Given the description of an element on the screen output the (x, y) to click on. 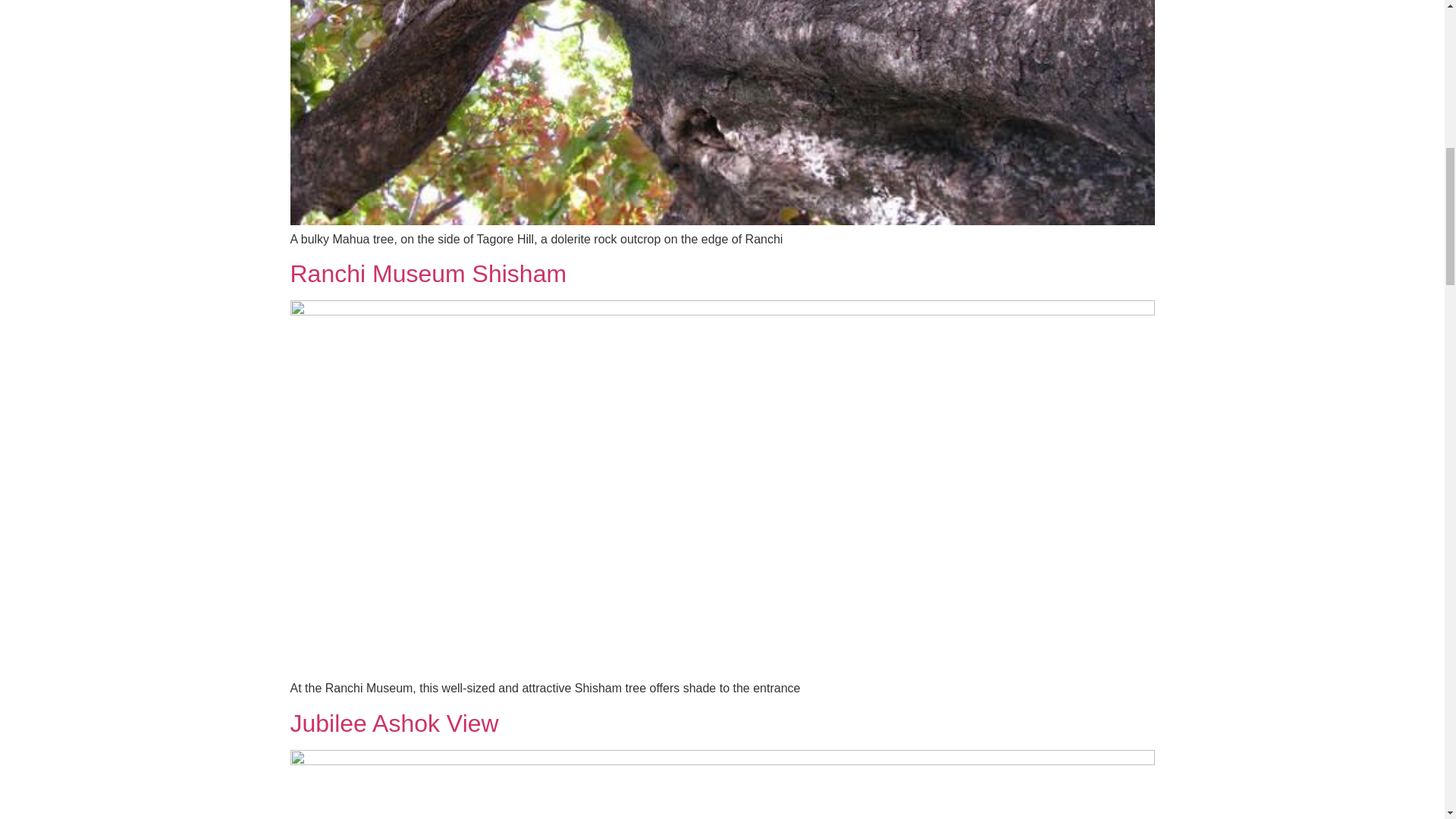
Ranchi Museum Shisham (427, 273)
Jubilee Ashok View (393, 723)
